Given the description of an element on the screen output the (x, y) to click on. 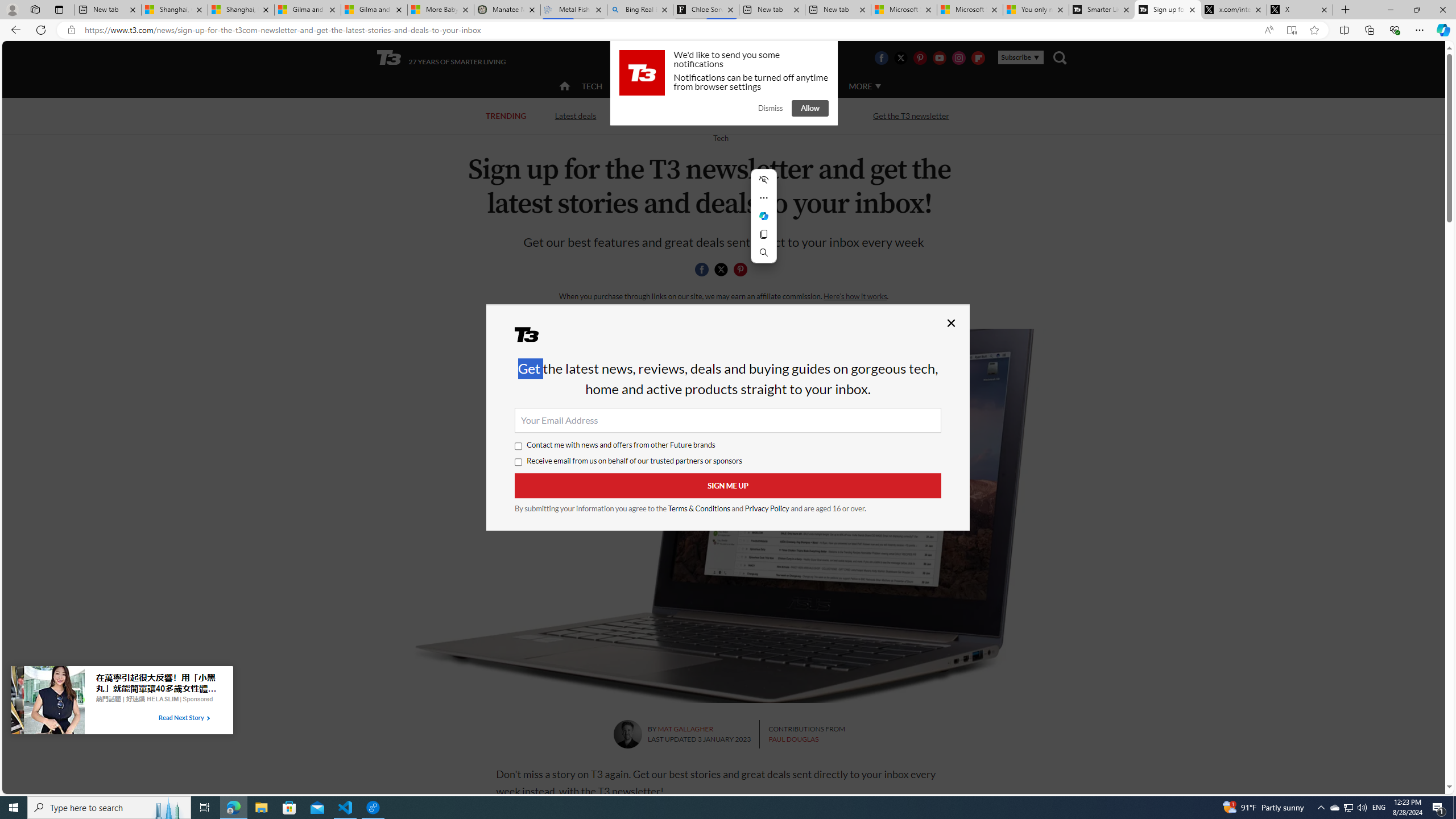
LUXURY (765, 86)
flag of UK (752, 57)
Visit us on Pintrest (919, 57)
HOME LIVING (701, 85)
Get the T3 newsletter (911, 115)
HOME LIVING (701, 86)
Tech (720, 137)
MORE  (863, 86)
More actions (763, 198)
LUXURY (765, 85)
Visit us on Youtube (938, 57)
MAT GALLAGHER (685, 728)
Subscribe (1020, 56)
Read aloud this page (Ctrl+Shift+U) (1268, 29)
Microsoft Start (969, 9)
